Given the description of an element on the screen output the (x, y) to click on. 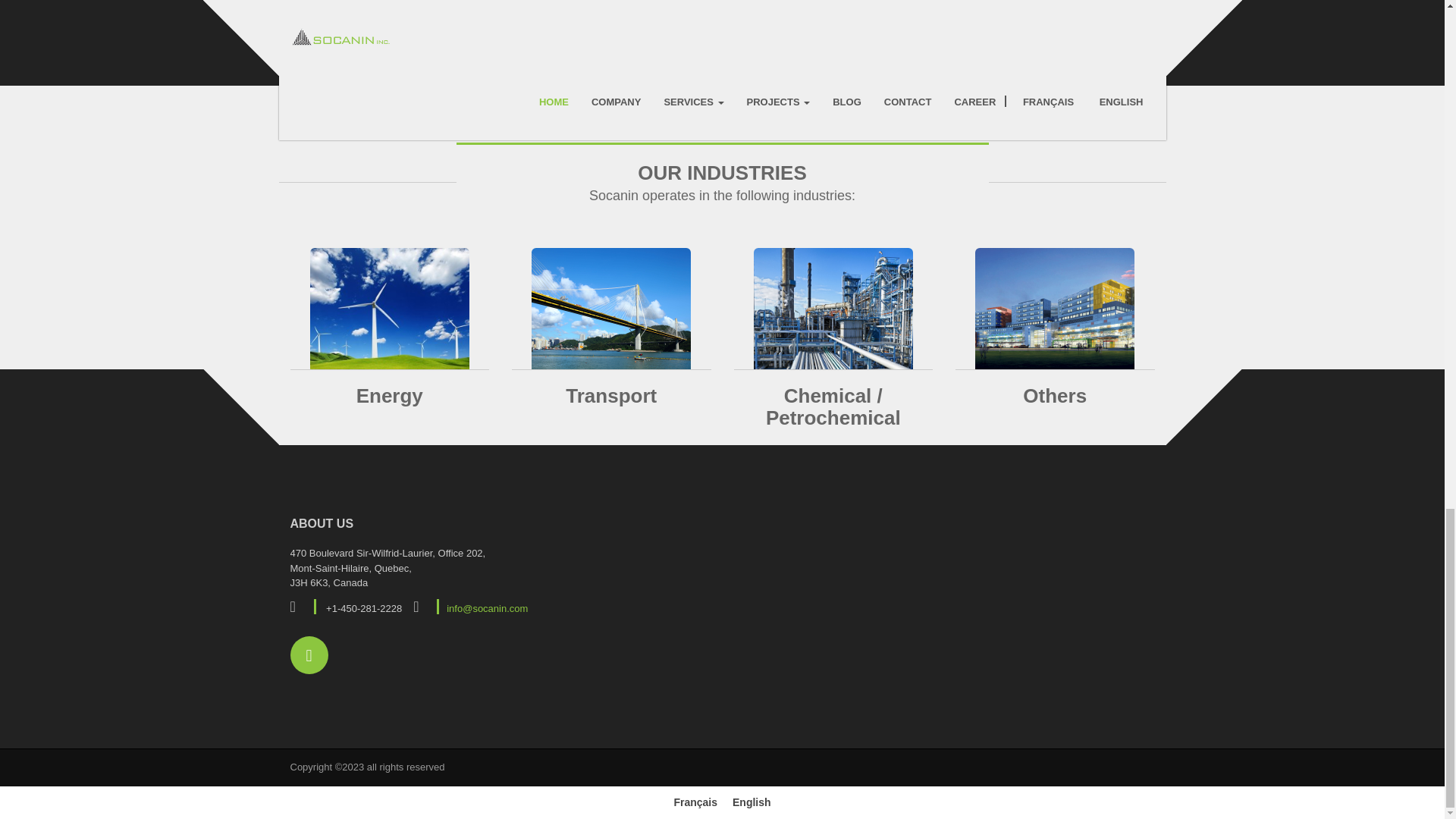
Our Services (722, 14)
ENERGY (389, 308)
OUR SERVICES (722, 14)
English (751, 802)
